Given the description of an element on the screen output the (x, y) to click on. 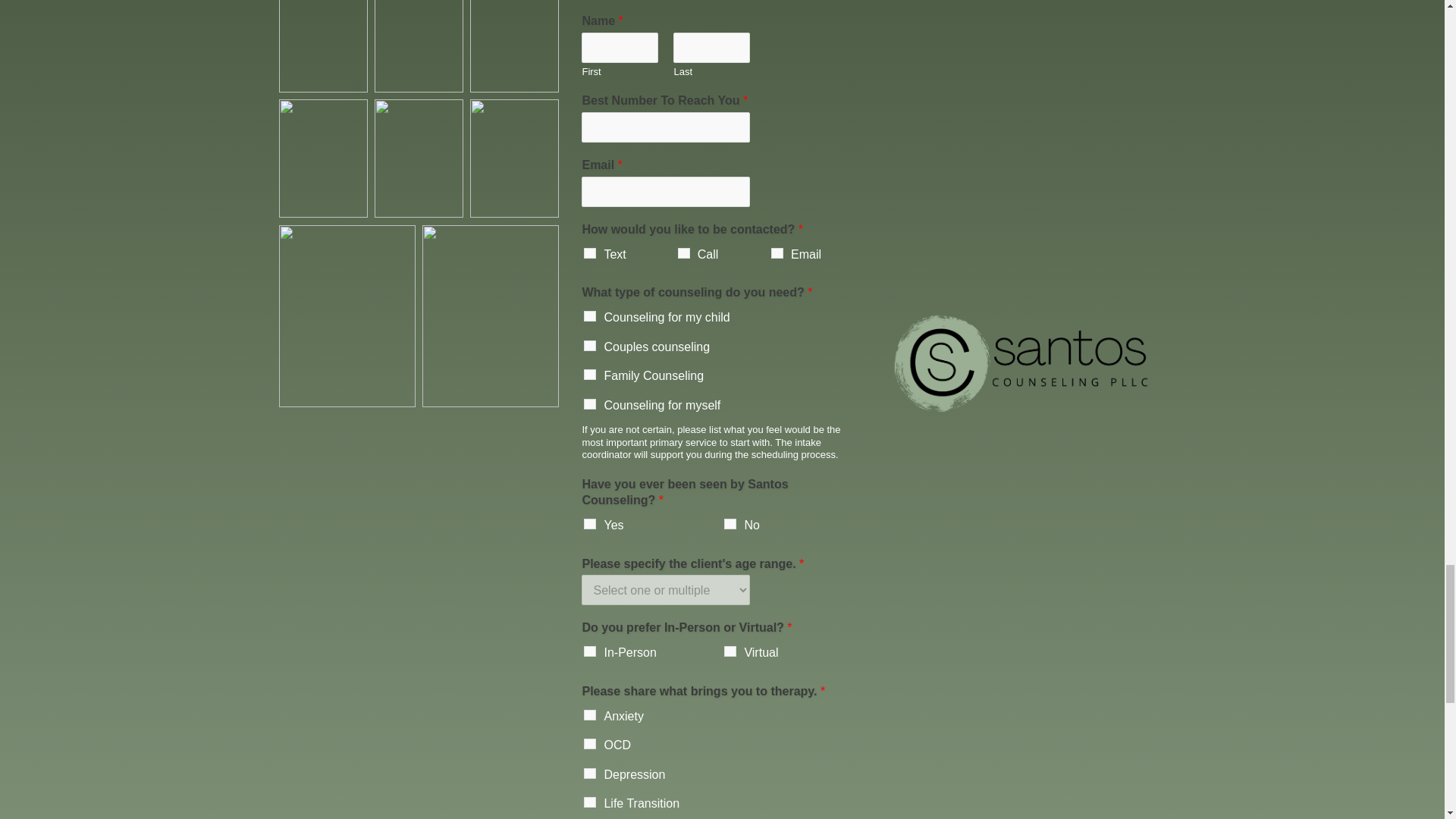
Counseling for myself (589, 403)
No (729, 523)
Call (684, 253)
Couples counseling (589, 345)
Counseling for my child (589, 316)
In-Person (589, 651)
Anxiety (589, 715)
Yes (589, 523)
Virtual (729, 651)
Life Transition (589, 801)
